Given the description of an element on the screen output the (x, y) to click on. 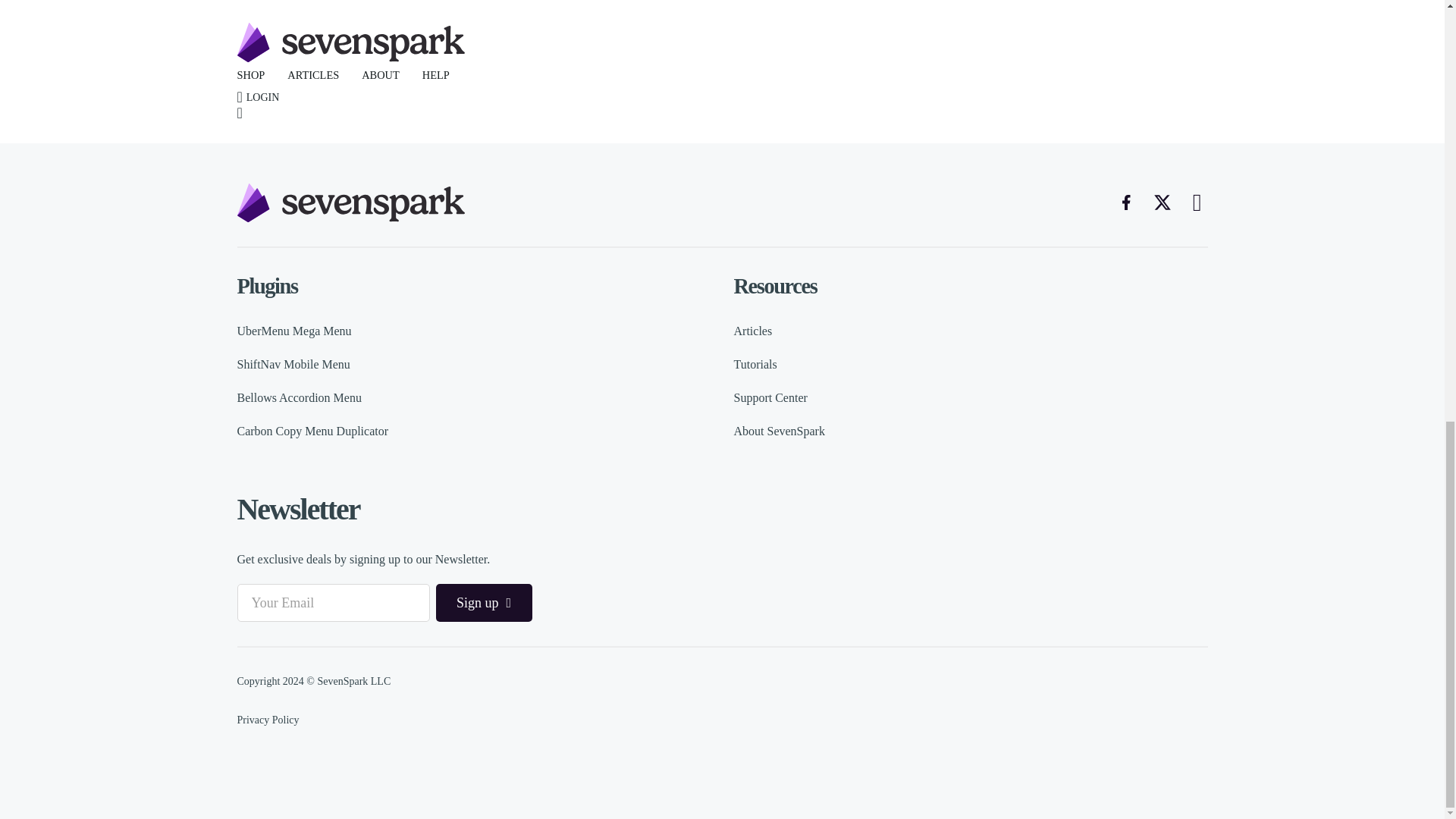
ShiftNav Mobile Menu (292, 364)
Articles (753, 331)
Support Center (770, 398)
About SevenSpark (779, 431)
Bellows Accordion Menu (298, 398)
UberMenu Mega Menu (292, 331)
Sign up (483, 602)
Carbon Copy Menu Duplicator (311, 431)
Privacy Policy (266, 719)
Tutorials (755, 364)
